Given the description of an element on the screen output the (x, y) to click on. 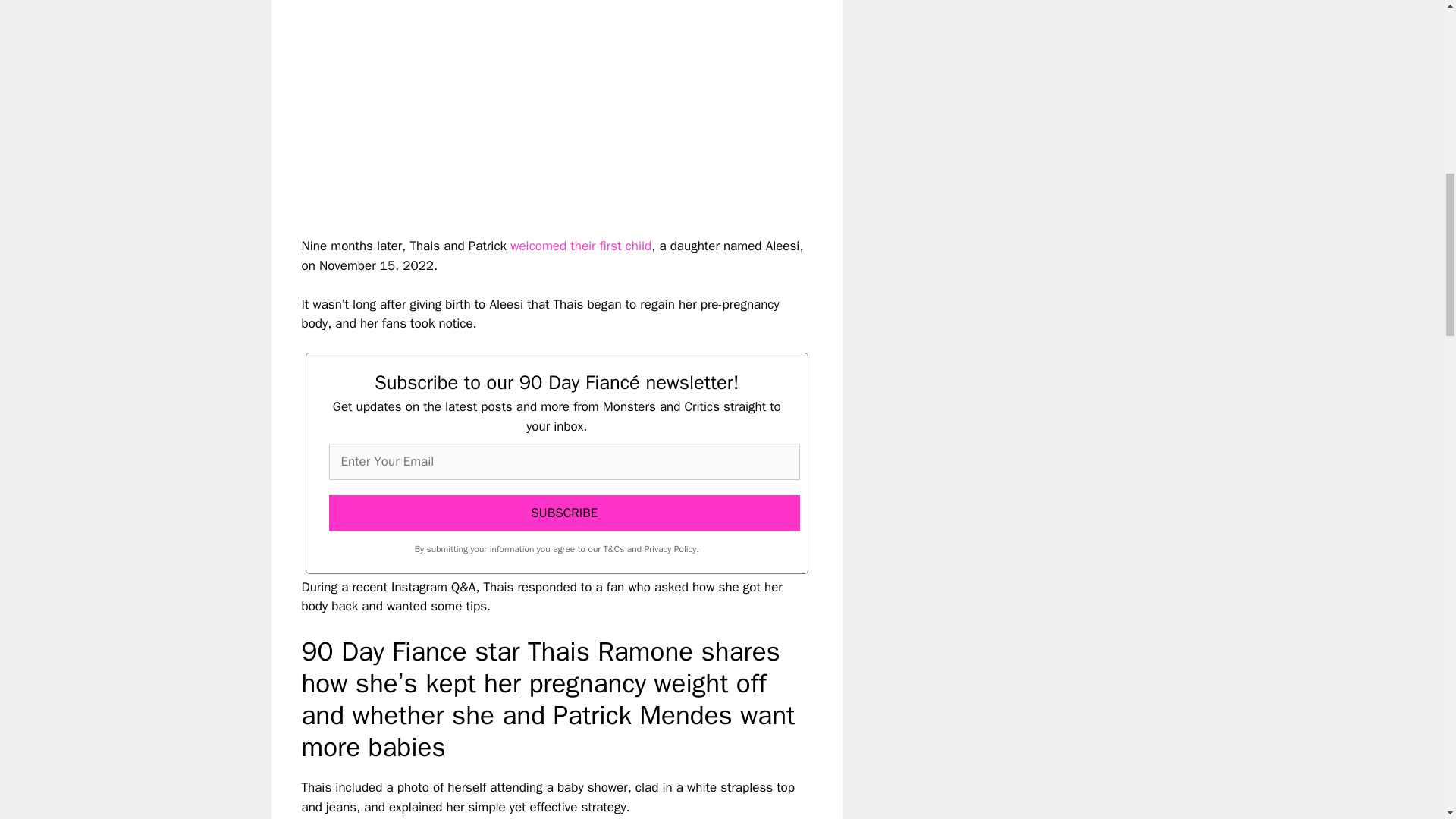
welcomed their first child (580, 245)
SUBSCRIBE (564, 513)
SUBSCRIBE (564, 513)
YouTube video player (513, 105)
